Given the description of an element on the screen output the (x, y) to click on. 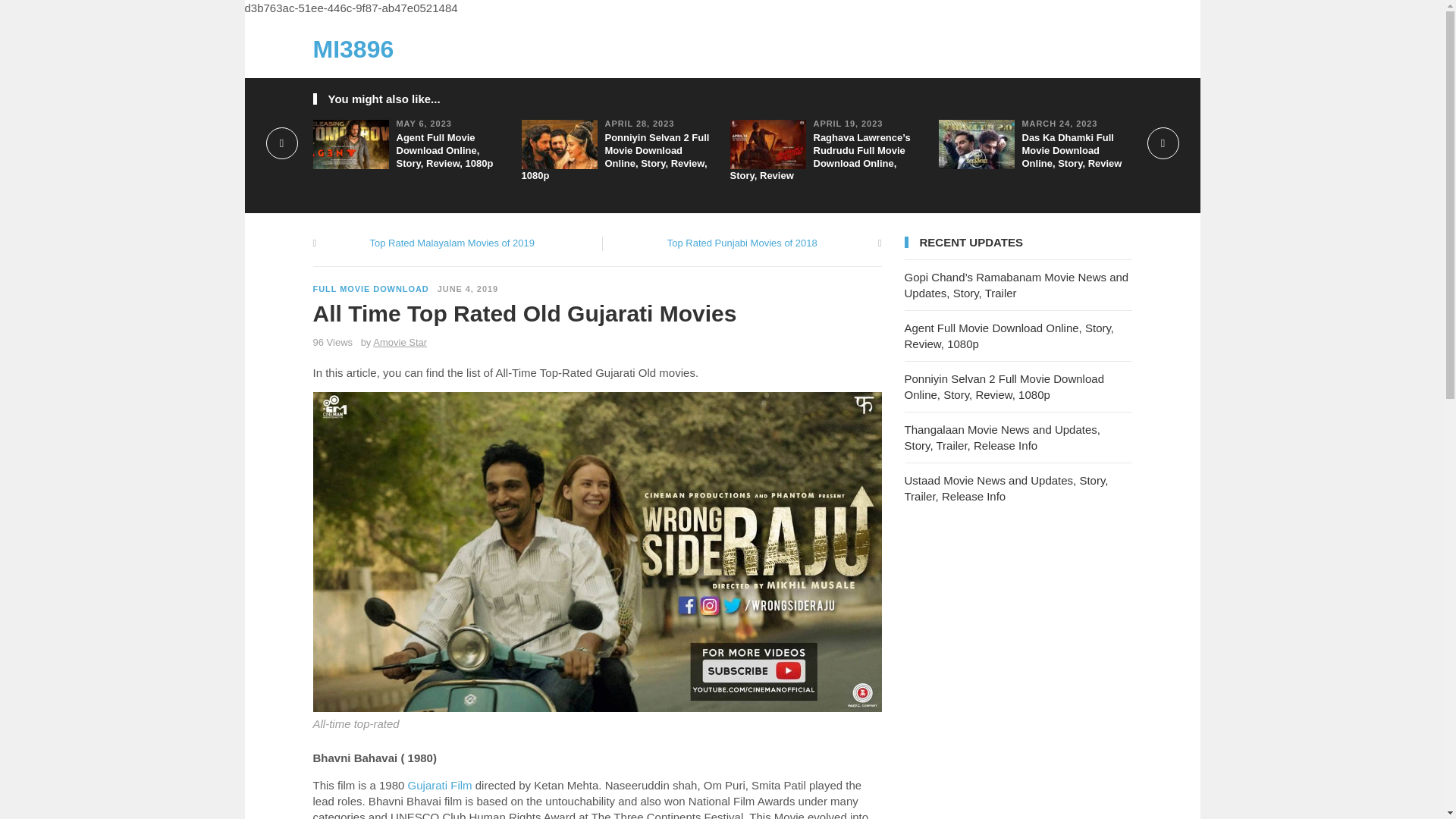
MI3896 (353, 49)
Top Rated Punjabi Movies of 2018 (741, 242)
FULL MOVIE DOWNLOAD (370, 288)
Gujarati Film (439, 784)
Agent Full Movie Download Online, Story, Review, 1080p (444, 149)
Top Rated Malayalam Movies of 2019 (451, 242)
Amovie Star (399, 342)
